Given the description of an element on the screen output the (x, y) to click on. 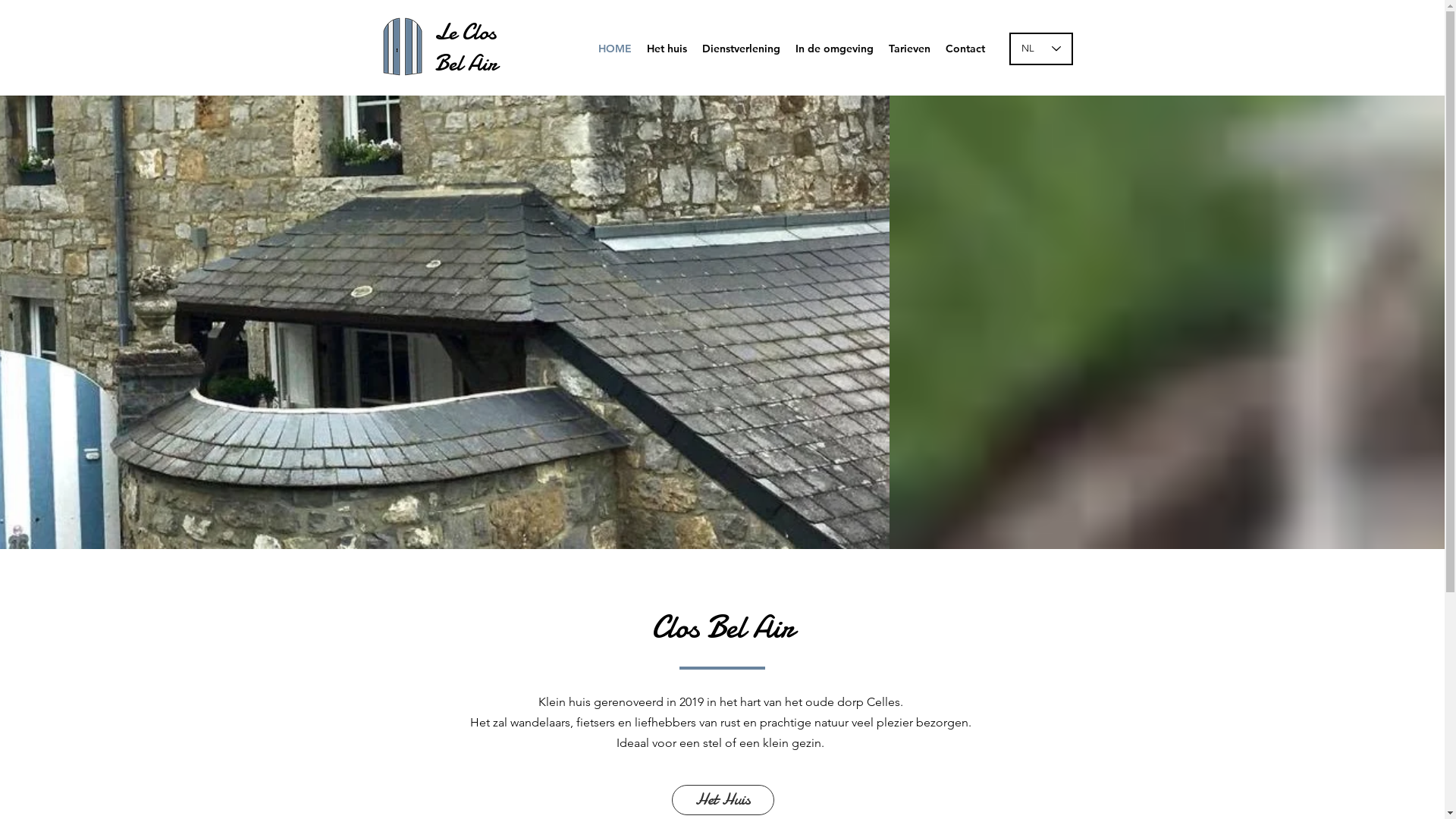
Tarieven Element type: text (909, 48)
Het Huis Element type: text (722, 799)
Le Clos Element type: text (464, 31)
In de omgeving Element type: text (834, 48)
Het huis Element type: text (666, 48)
Contact Element type: text (965, 48)
HOME Element type: text (614, 48)
Dienstverlening Element type: text (740, 48)
